Given the description of an element on the screen output the (x, y) to click on. 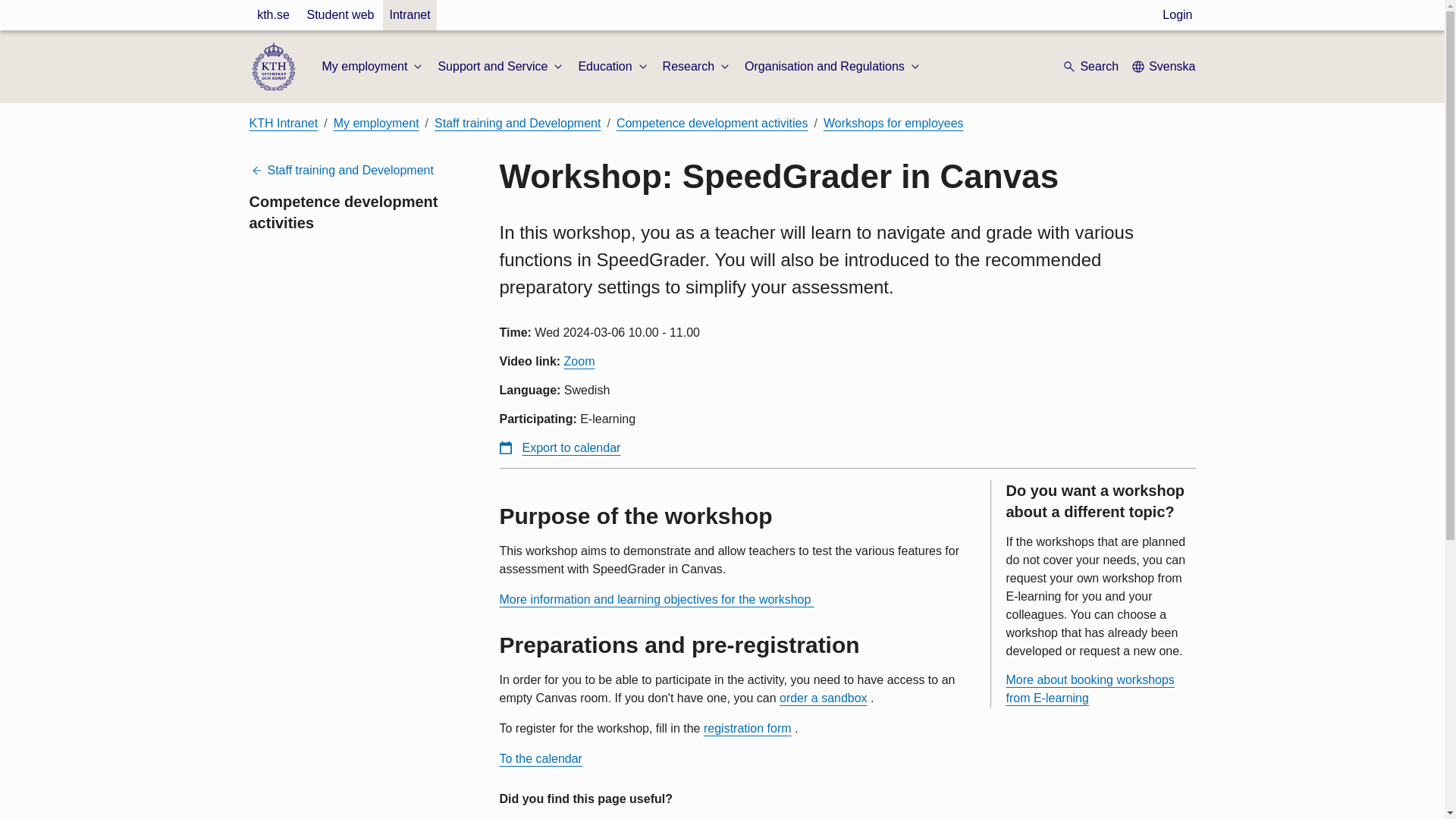
Intranet (408, 15)
Research (697, 66)
Organisation and Regulations (833, 66)
Student web (339, 15)
Education (613, 66)
Login (1176, 15)
My employment (373, 66)
Support and Service (502, 66)
kth.se (272, 15)
